Given the description of an element on the screen output the (x, y) to click on. 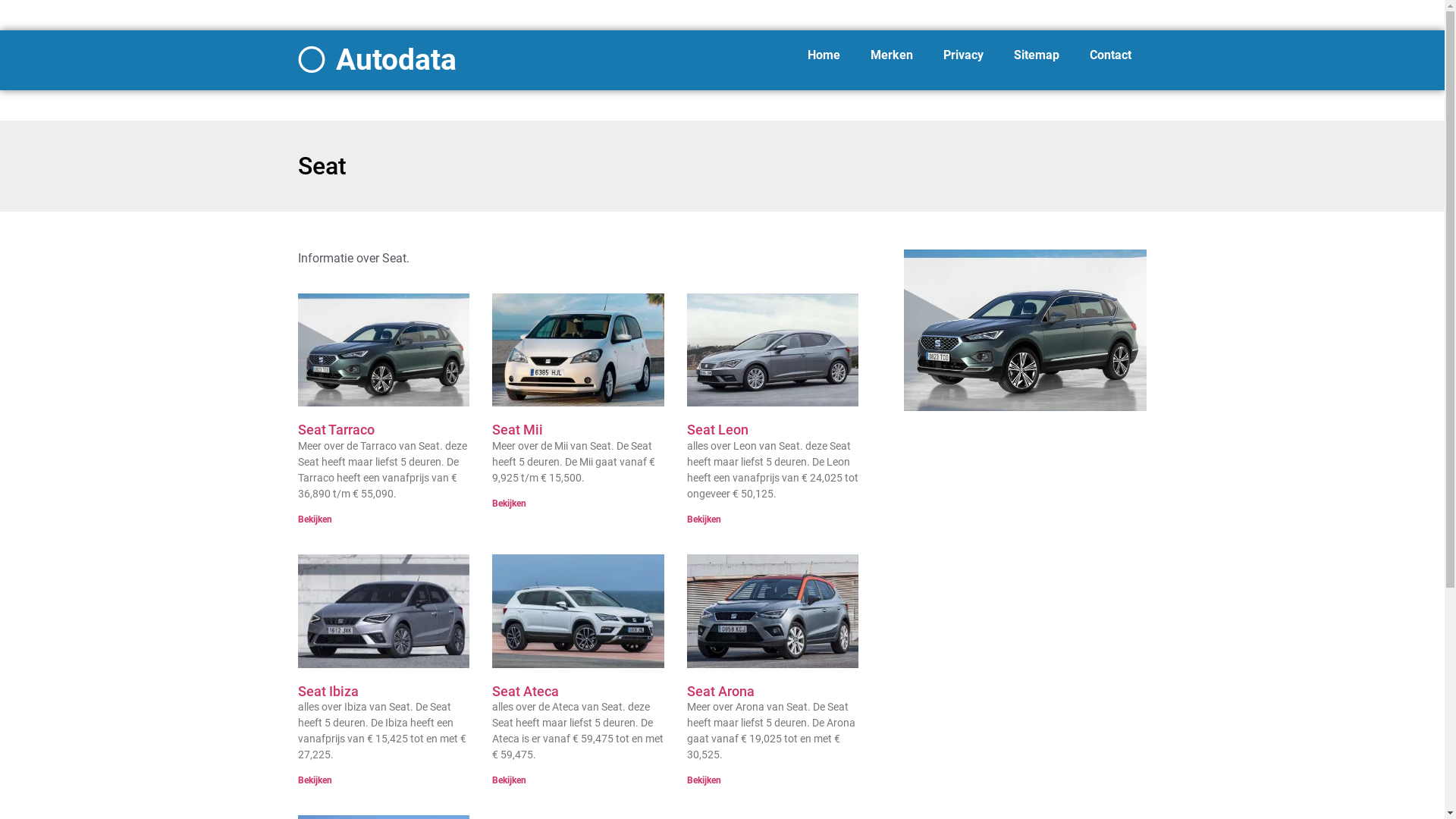
Seat Ateca Element type: text (525, 691)
Bekijken Element type: text (509, 503)
Bekijken Element type: text (704, 780)
Bekijken Element type: text (509, 780)
Merken Element type: text (891, 54)
Home Element type: text (823, 54)
Bekijken Element type: text (314, 780)
Bekijken Element type: text (704, 519)
Privacy Element type: text (963, 54)
Bekijken Element type: text (314, 519)
Seat Tarraco Element type: text (335, 429)
Contact Element type: text (1110, 54)
Autodata Element type: text (395, 59)
Seat Mii Element type: text (517, 429)
Sitemap Element type: text (1036, 54)
Seat Leon Element type: text (717, 429)
Seat Ibiza Element type: text (327, 691)
Seat Arona Element type: text (720, 691)
